Given the description of an element on the screen output the (x, y) to click on. 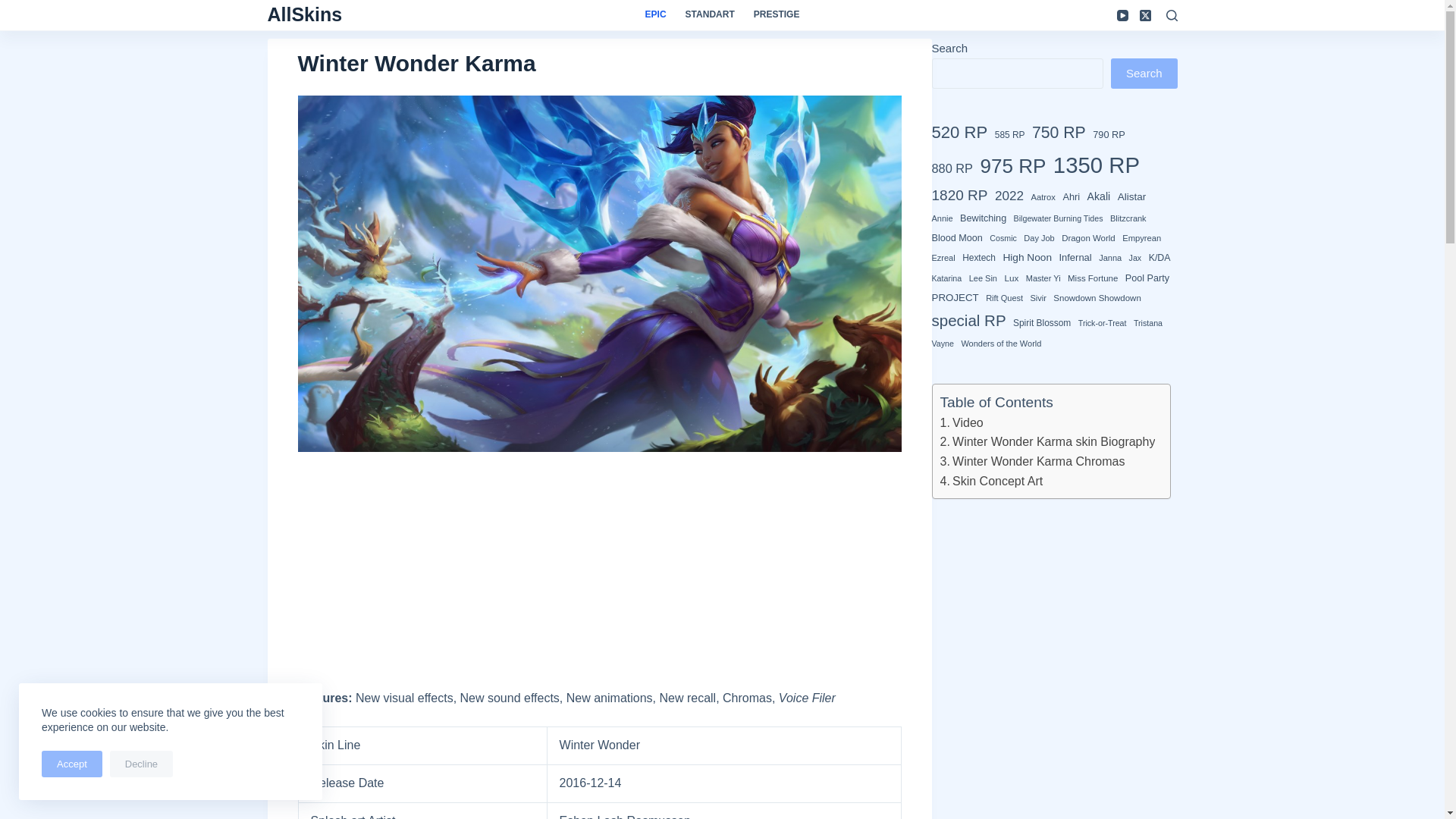
520 RP (959, 132)
Winter Wonder Karma (599, 62)
Epic Skins League of Legends (661, 15)
750 RP (1059, 131)
Prestige Skins League of Legends (771, 15)
Decline (141, 764)
790 RP (1109, 134)
Accept (71, 764)
Standart Skins League of Legends (709, 15)
AllSkins (304, 14)
585 RP (1009, 135)
Advertisement (580, 576)
PRESTIGE (771, 15)
Skip to content (15, 7)
STANDART (709, 15)
